Given the description of an element on the screen output the (x, y) to click on. 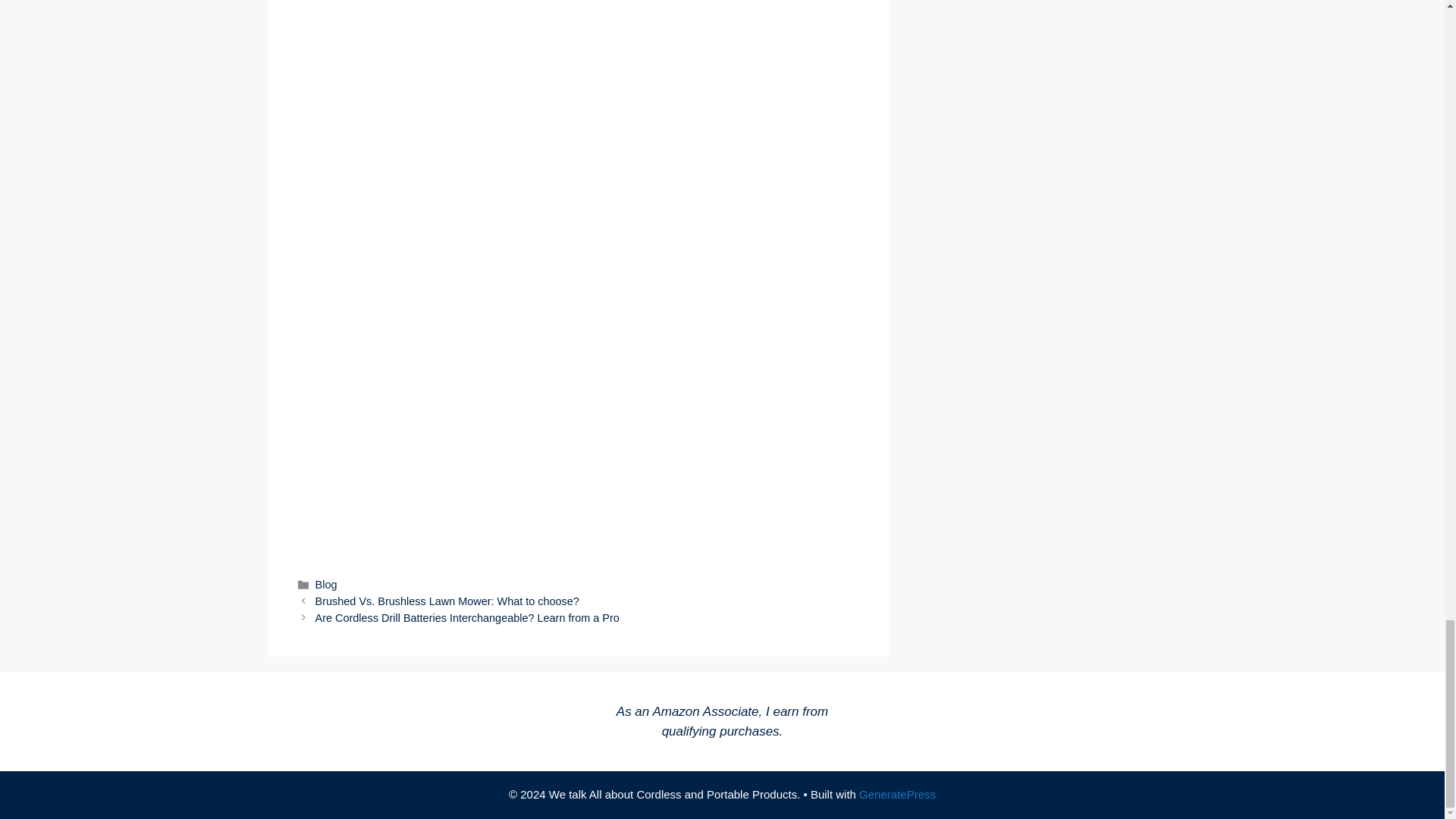
GeneratePress (897, 793)
Blog (326, 584)
Brushed Vs. Brushless Lawn Mower: What to choose? (447, 601)
